Given the description of an element on the screen output the (x, y) to click on. 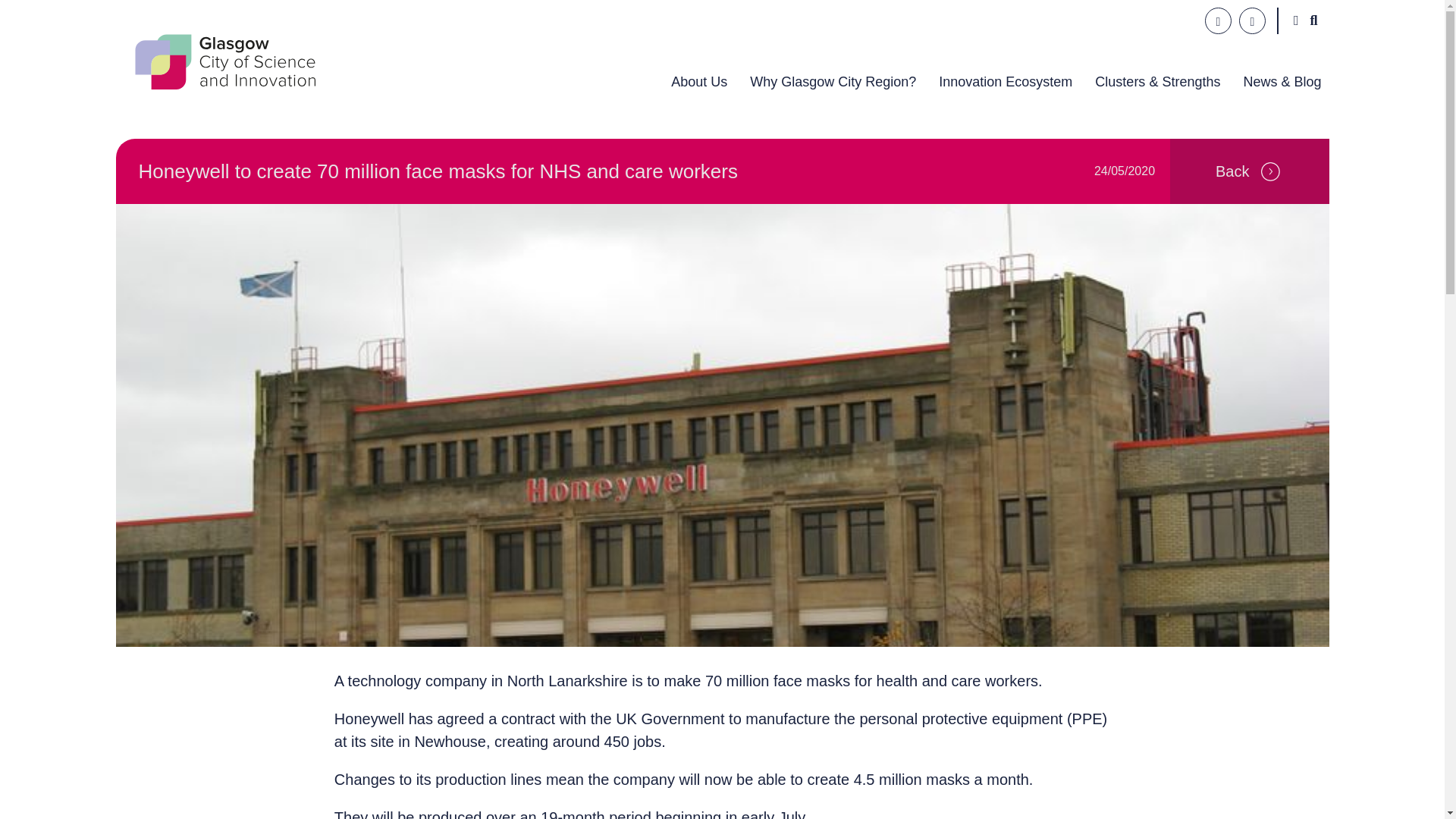
About Us (698, 78)
